Given the description of an element on the screen output the (x, y) to click on. 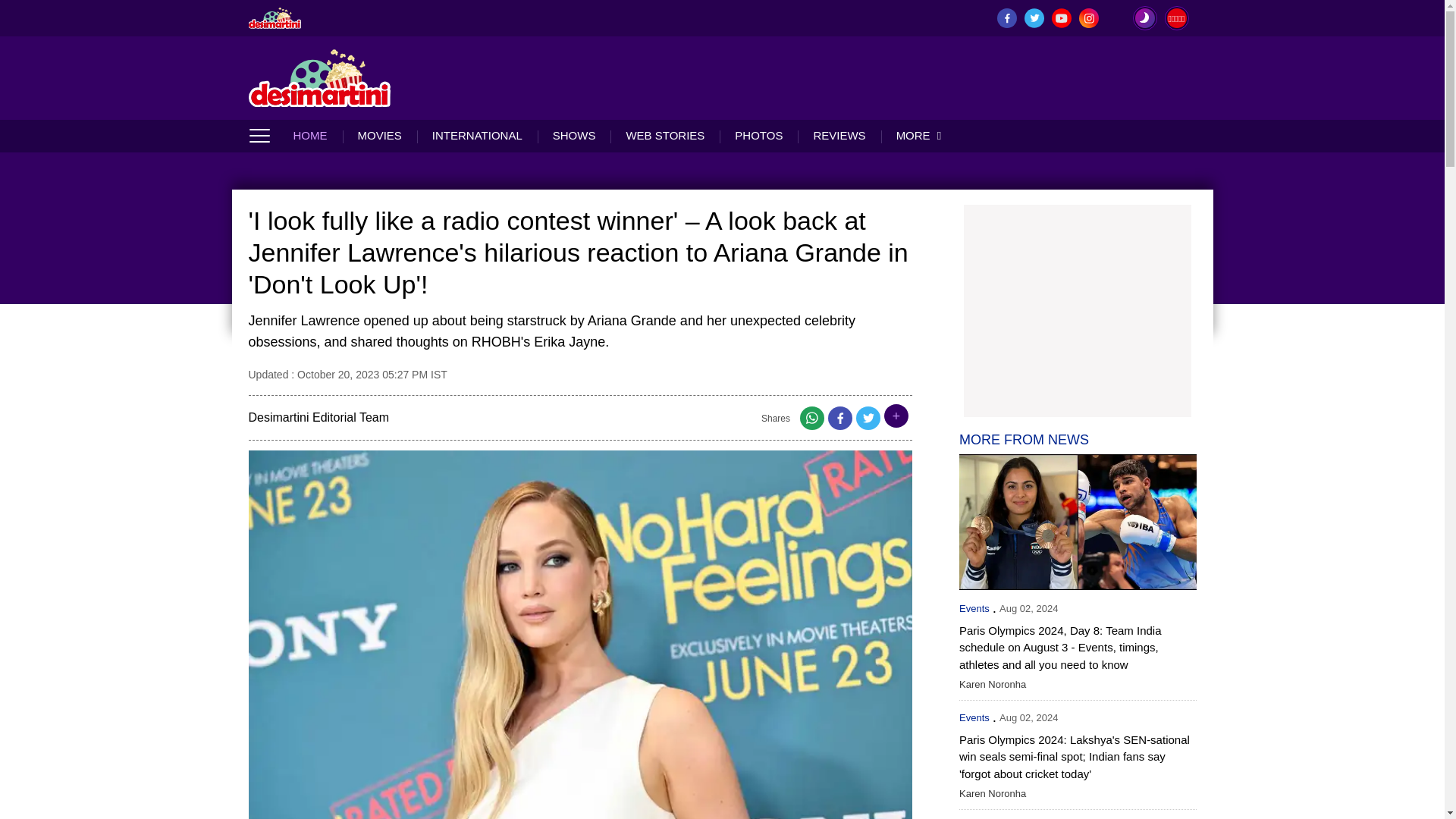
WEB STORIES (664, 135)
PHOTOS (758, 135)
desimartini (319, 77)
HOME (317, 135)
SHOWS (574, 135)
INTERNATIONAL (476, 135)
REVIEWS (838, 135)
desimartini (274, 17)
MOVIES (379, 135)
